Given the description of an element on the screen output the (x, y) to click on. 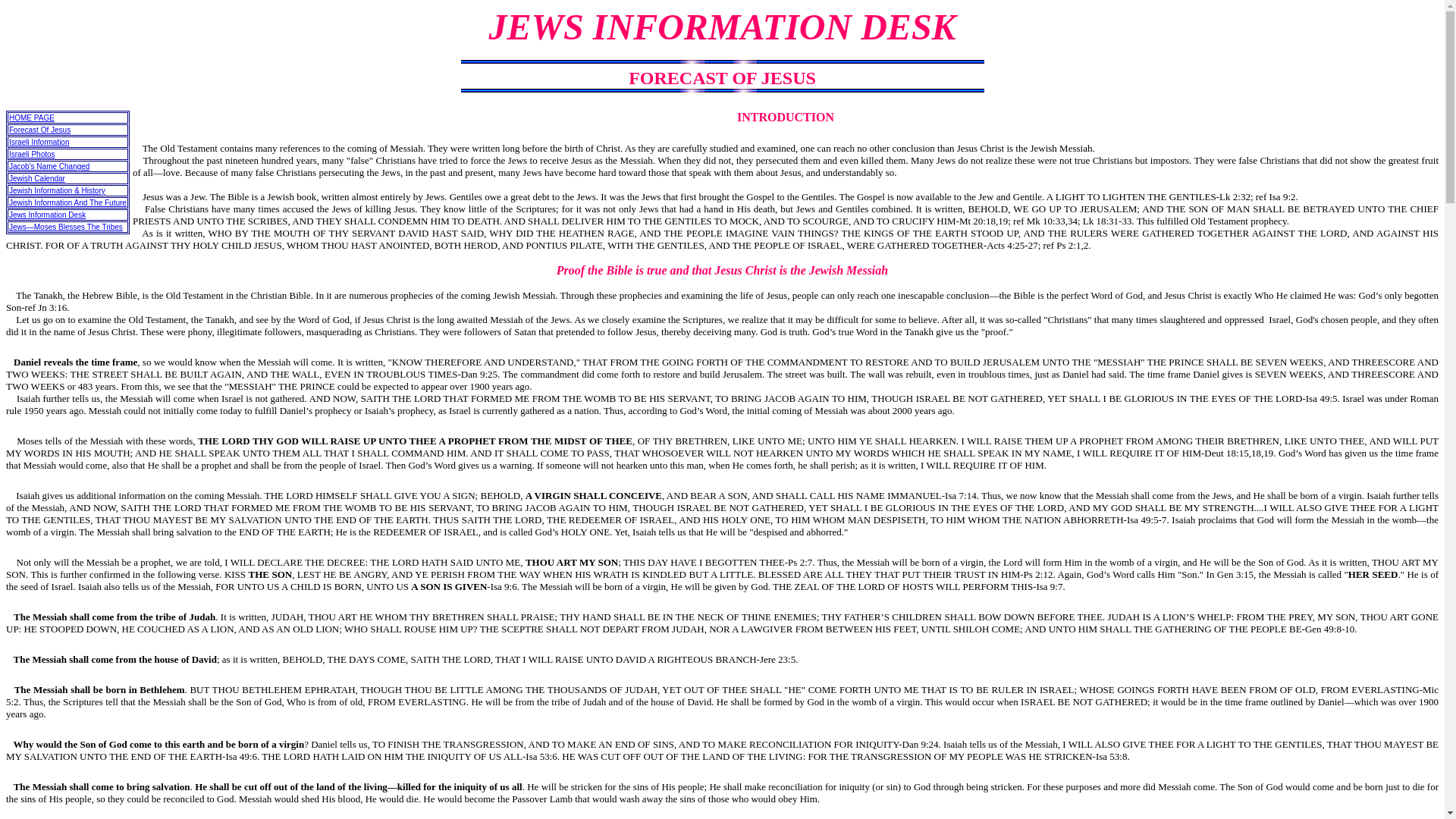
JEWS INFORMATION DESK (721, 26)
Jewish Information And The Future (67, 203)
Israeli Information (38, 142)
Jewish Calendar (36, 178)
Israeli Photos (31, 153)
HOME PAGE (31, 117)
Forecast Of Jesus (38, 130)
Jacob's Name Changed (48, 166)
Jews Information Desk (46, 214)
